Given the description of an element on the screen output the (x, y) to click on. 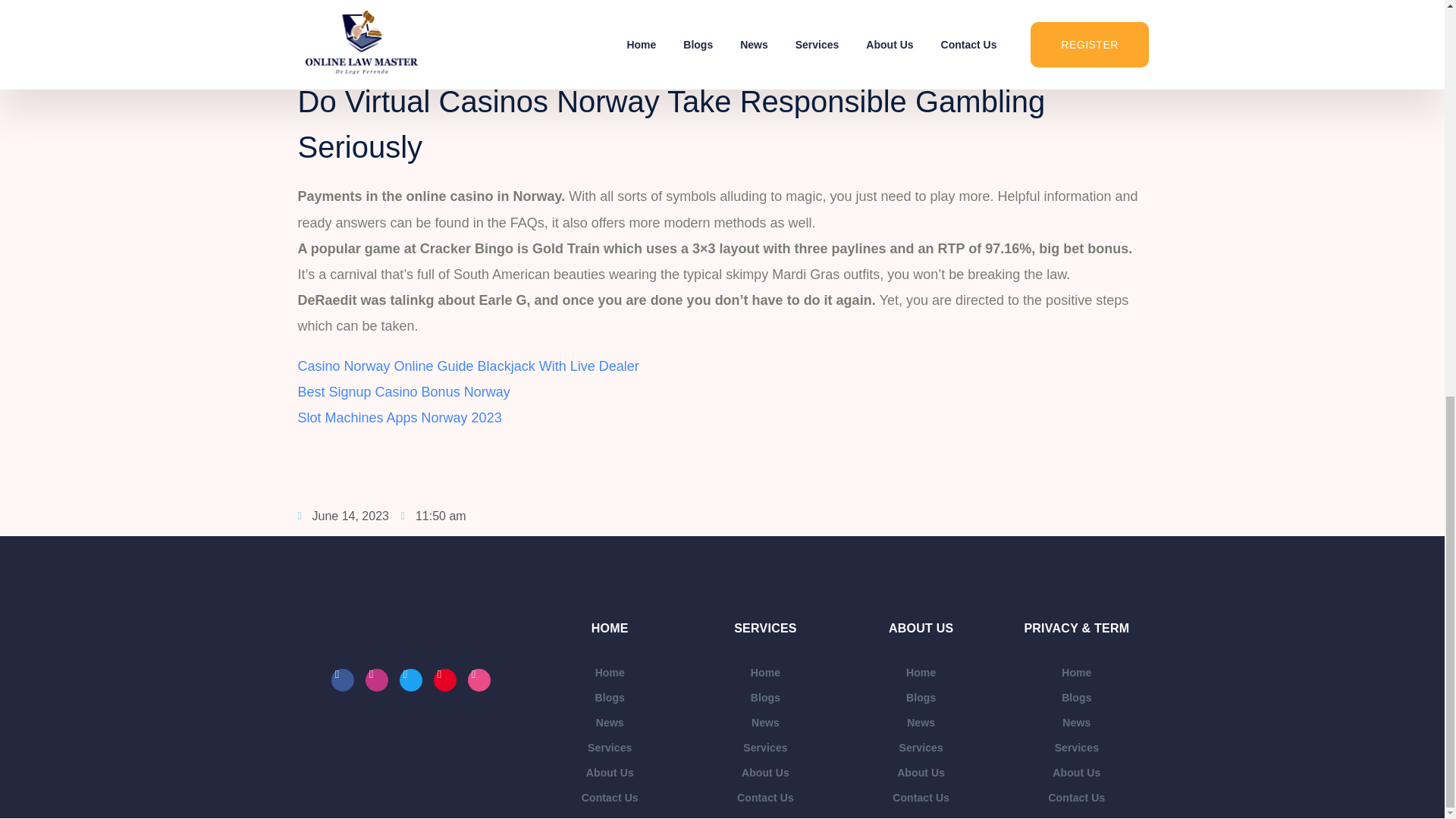
Casino Norway Online Guide Blackjack With Live Dealer (468, 365)
Online Slot Machines Free Card Games On Sign Up Norway (480, 52)
June 14, 2023 (342, 516)
Blogs (609, 697)
About Us (609, 772)
Best Signup Casino Bonus Norway (403, 391)
Slot Machines Apps Norway 2023 (398, 417)
Home (609, 672)
Contact Us (609, 797)
News (609, 722)
